Given the description of an element on the screen output the (x, y) to click on. 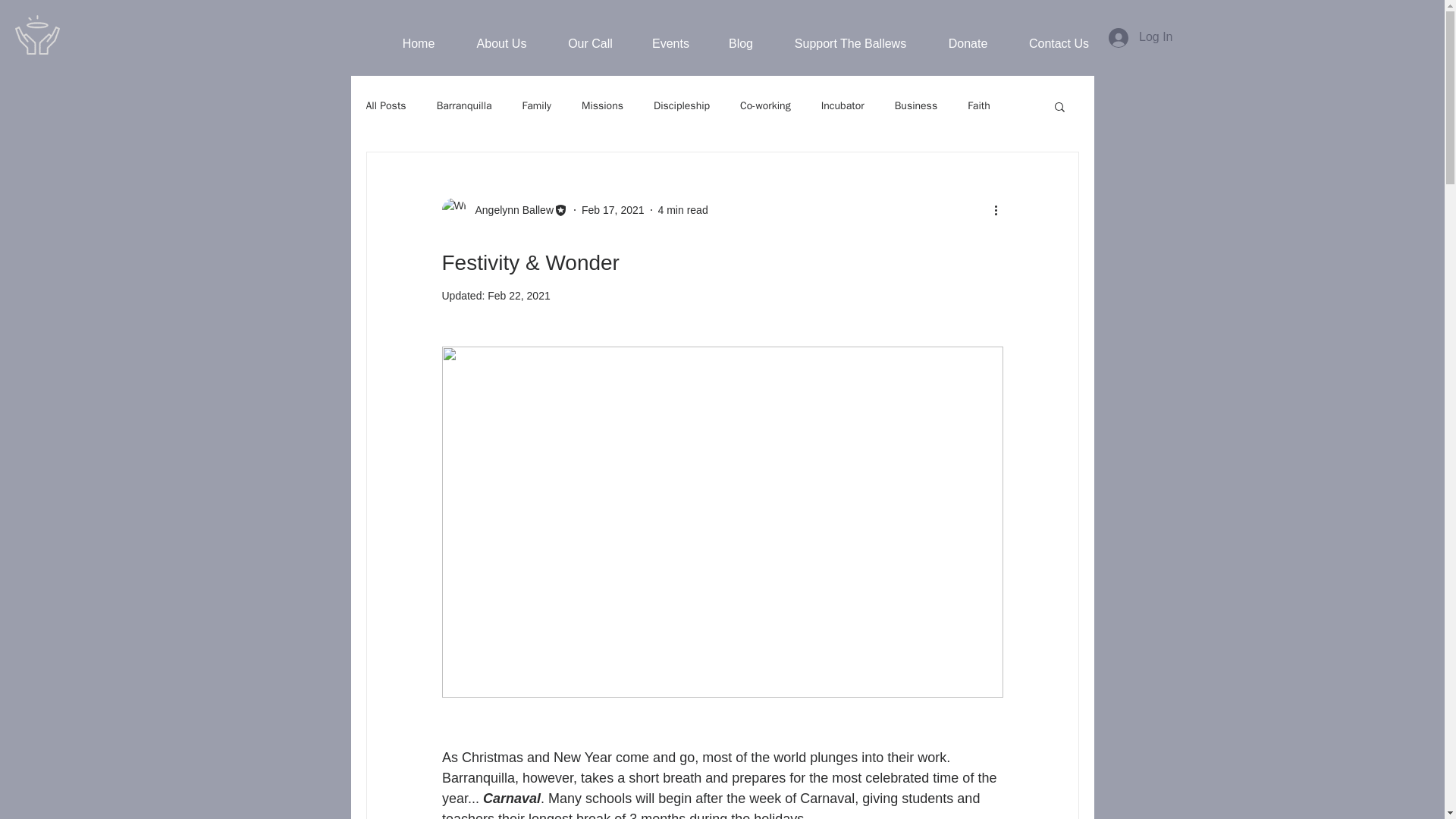
Incubator (842, 106)
Angelynn Ballew (504, 209)
Angelynn Ballew (509, 209)
Home (418, 43)
Family (536, 106)
All Posts (385, 106)
Feb 17, 2021 (612, 209)
Faith (979, 106)
Events (669, 43)
Business (916, 106)
